Given the description of an element on the screen output the (x, y) to click on. 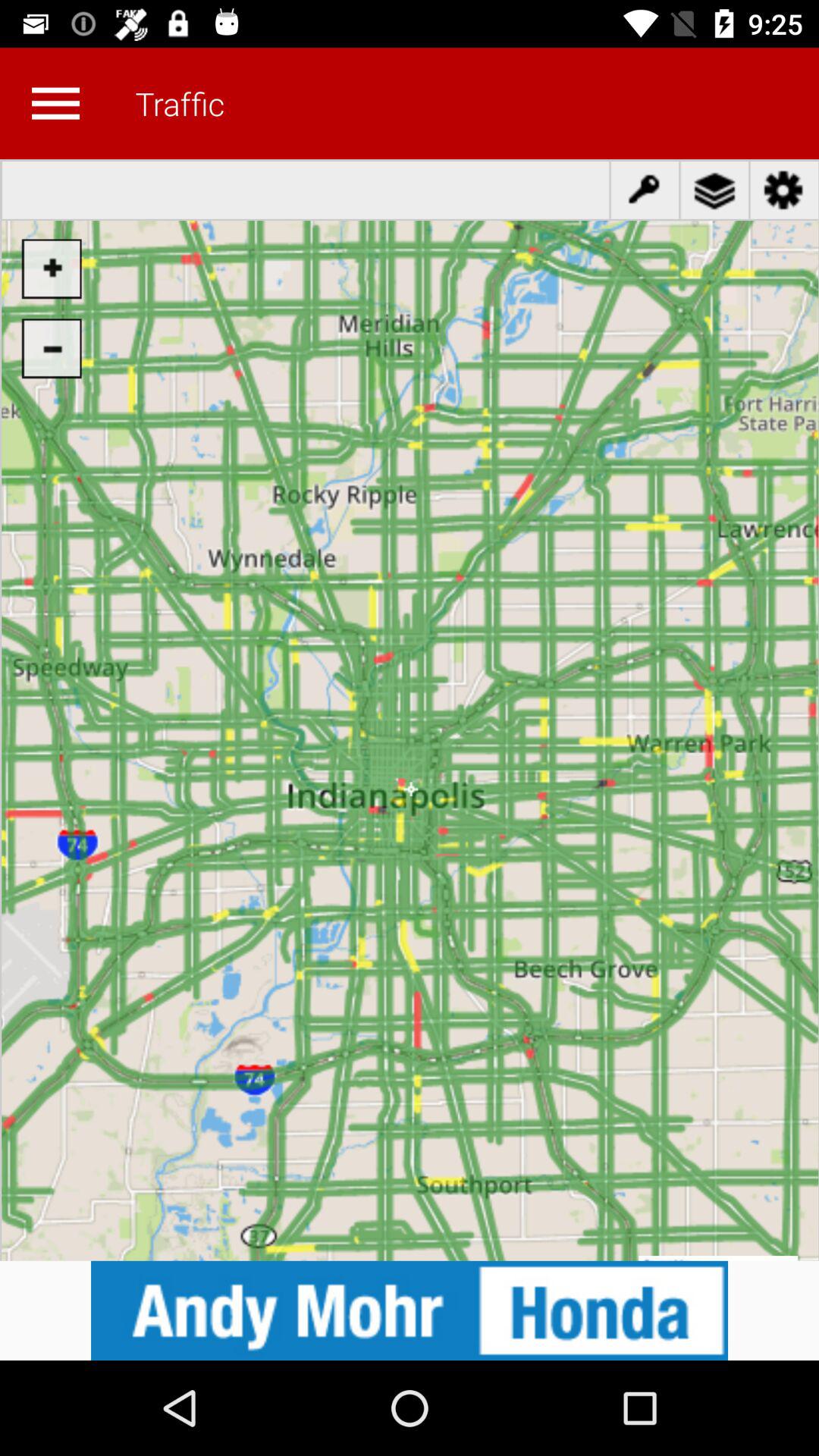
menu (55, 103)
